Given the description of an element on the screen output the (x, y) to click on. 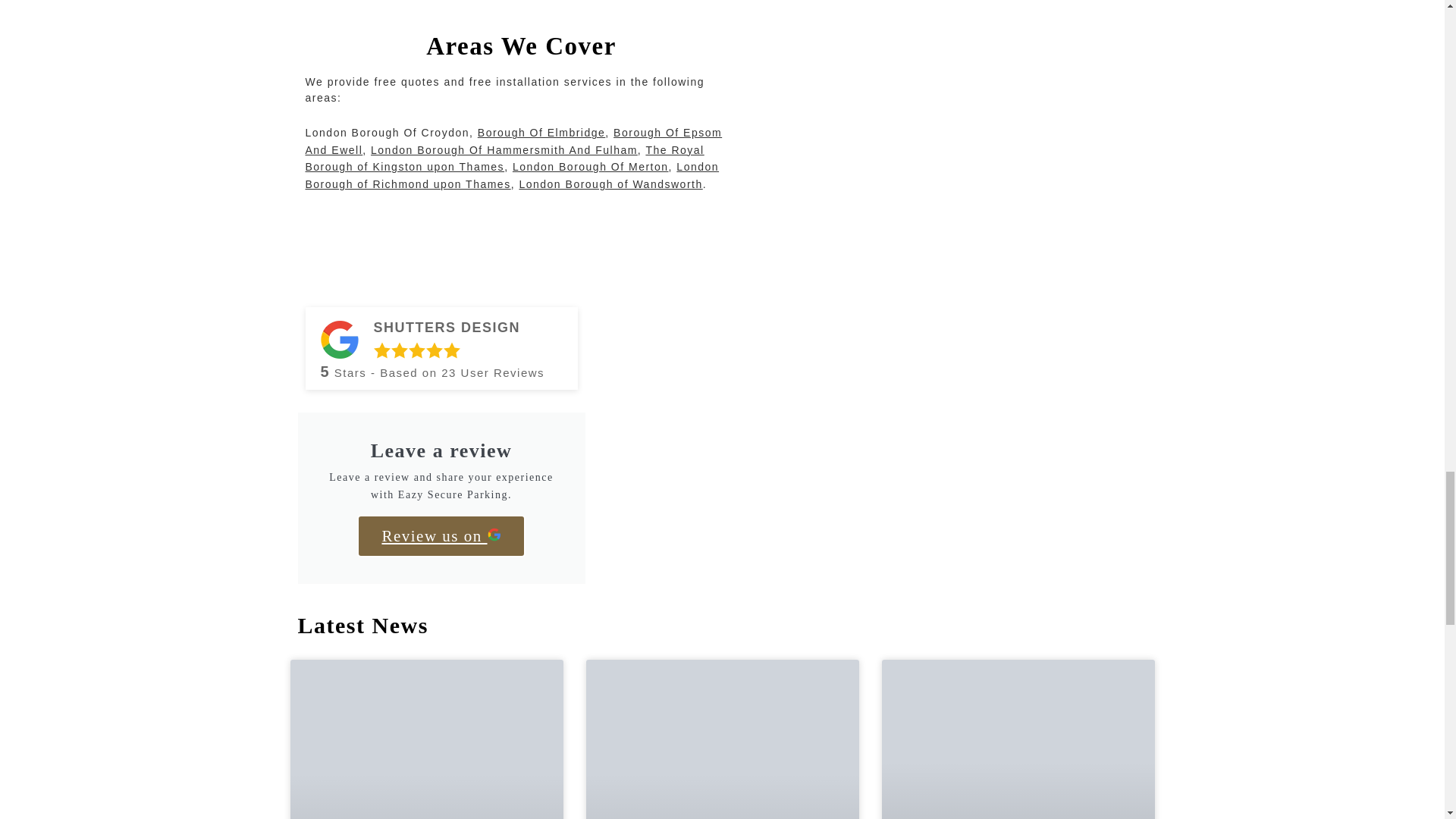
KT1, United Kingdom (968, 118)
